Given the description of an element on the screen output the (x, y) to click on. 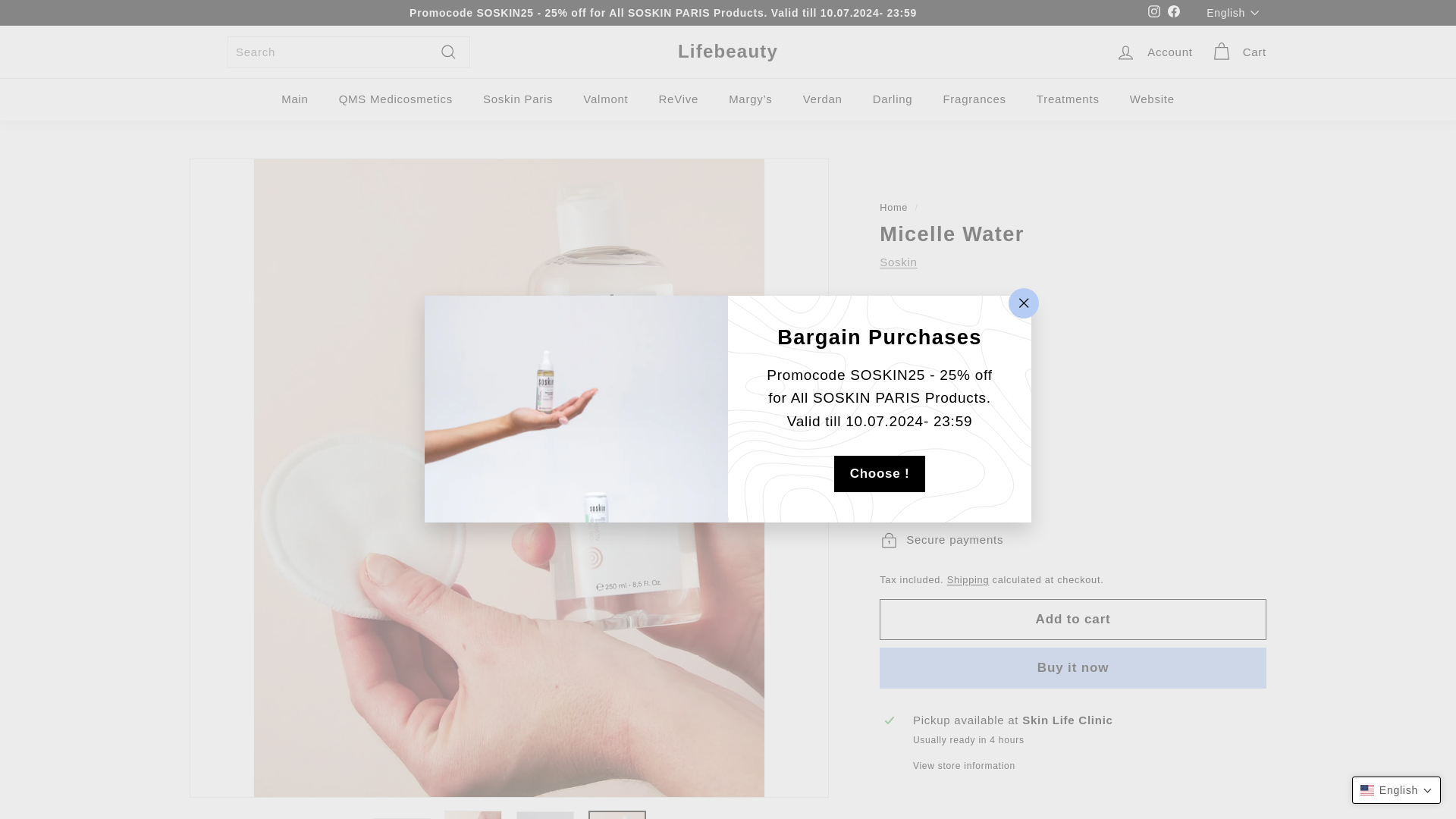
1 (906, 493)
Back to the frontpage (893, 206)
Account (1153, 51)
Main (294, 98)
Lifebeauty (727, 50)
English (1236, 12)
Soskin (898, 261)
